Given the description of an element on the screen output the (x, y) to click on. 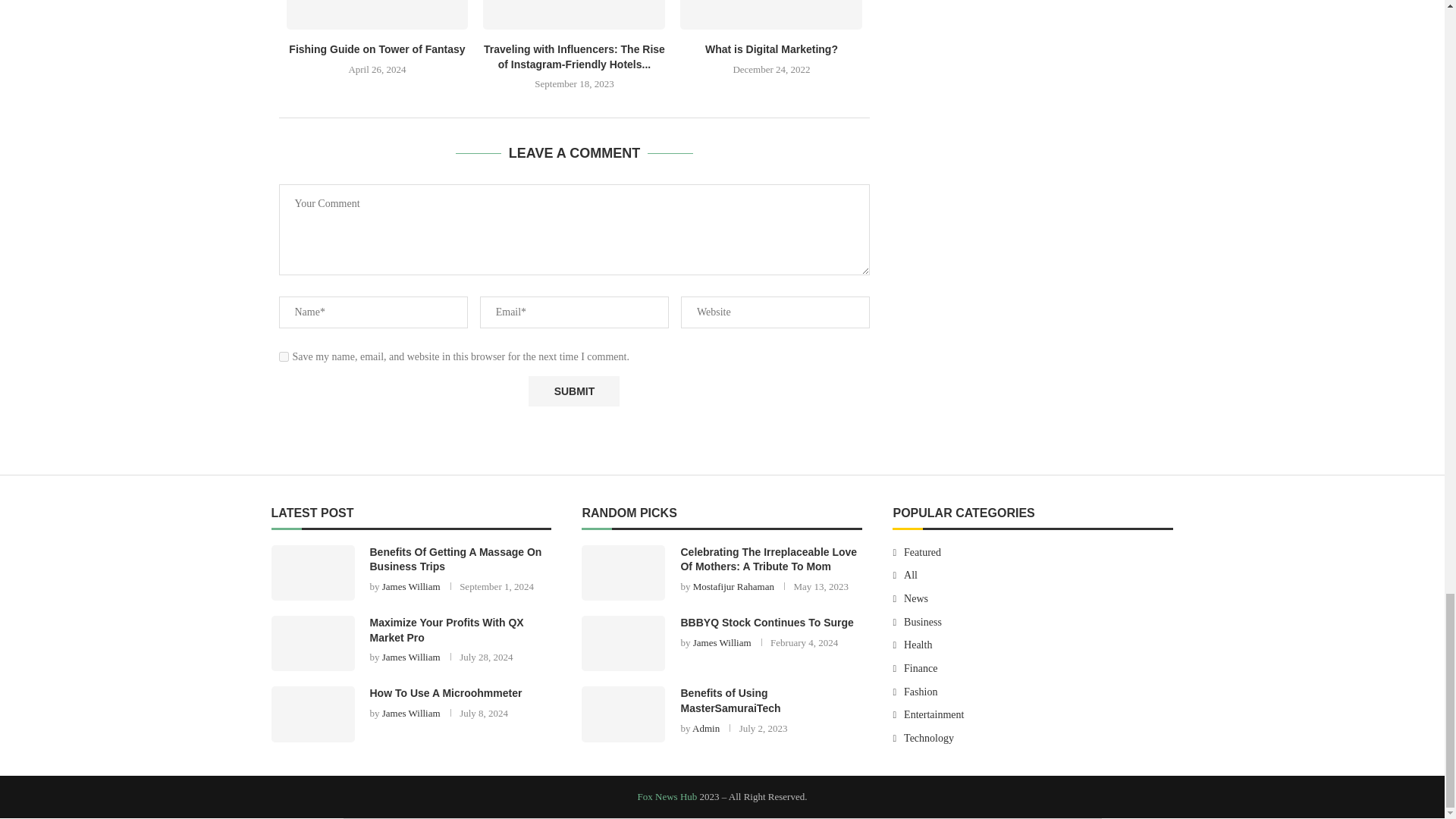
yes (283, 356)
Fishing Guide on Tower of Fantasy (377, 14)
What is Digital Marketing? (770, 14)
Submit (574, 390)
